Given the description of an element on the screen output the (x, y) to click on. 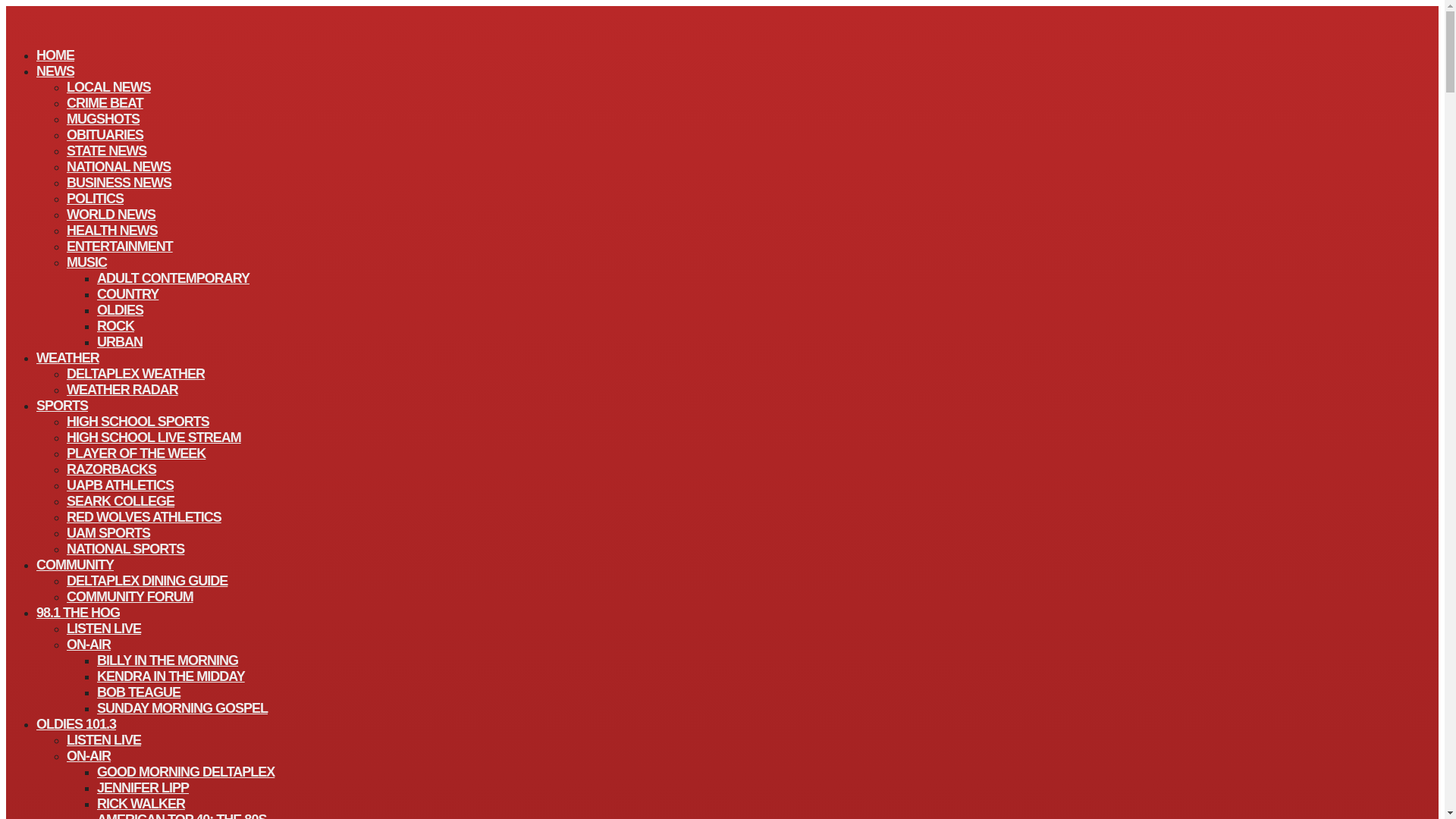
HEALTH NEWS (111, 230)
UAPB ATHLETICS (119, 485)
SEARK COLLEGE (120, 500)
DELTAPLEX DINING GUIDE (146, 580)
SPORTS (61, 405)
COMMUNITY (74, 564)
ADULT CONTEMPORARY (172, 278)
ROCK (115, 325)
HIGH SCHOOL LIVE STREAM (153, 436)
RAZORBACKS (110, 468)
